Given the description of an element on the screen output the (x, y) to click on. 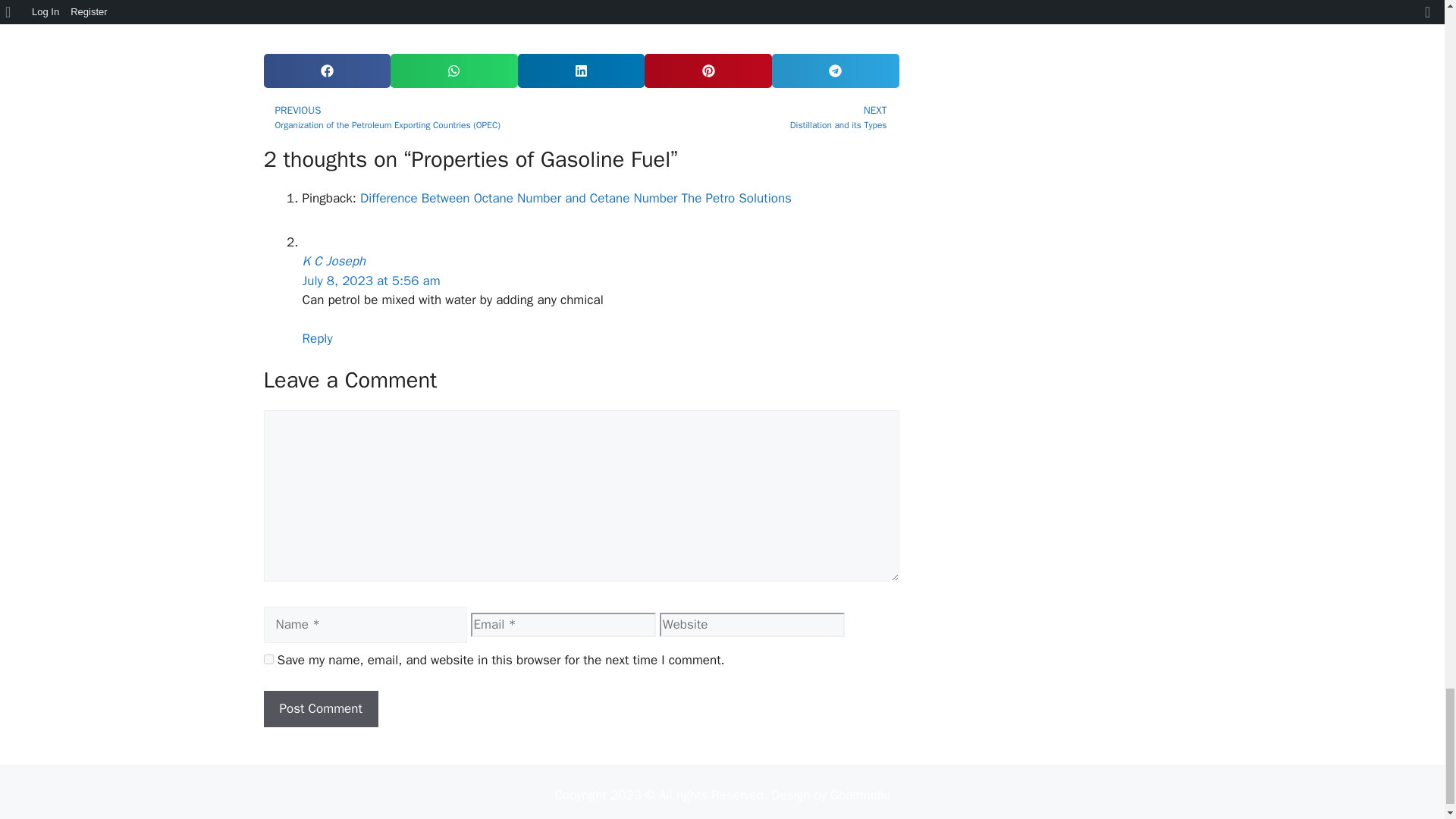
Post Comment (320, 709)
yes (268, 659)
